Given the description of an element on the screen output the (x, y) to click on. 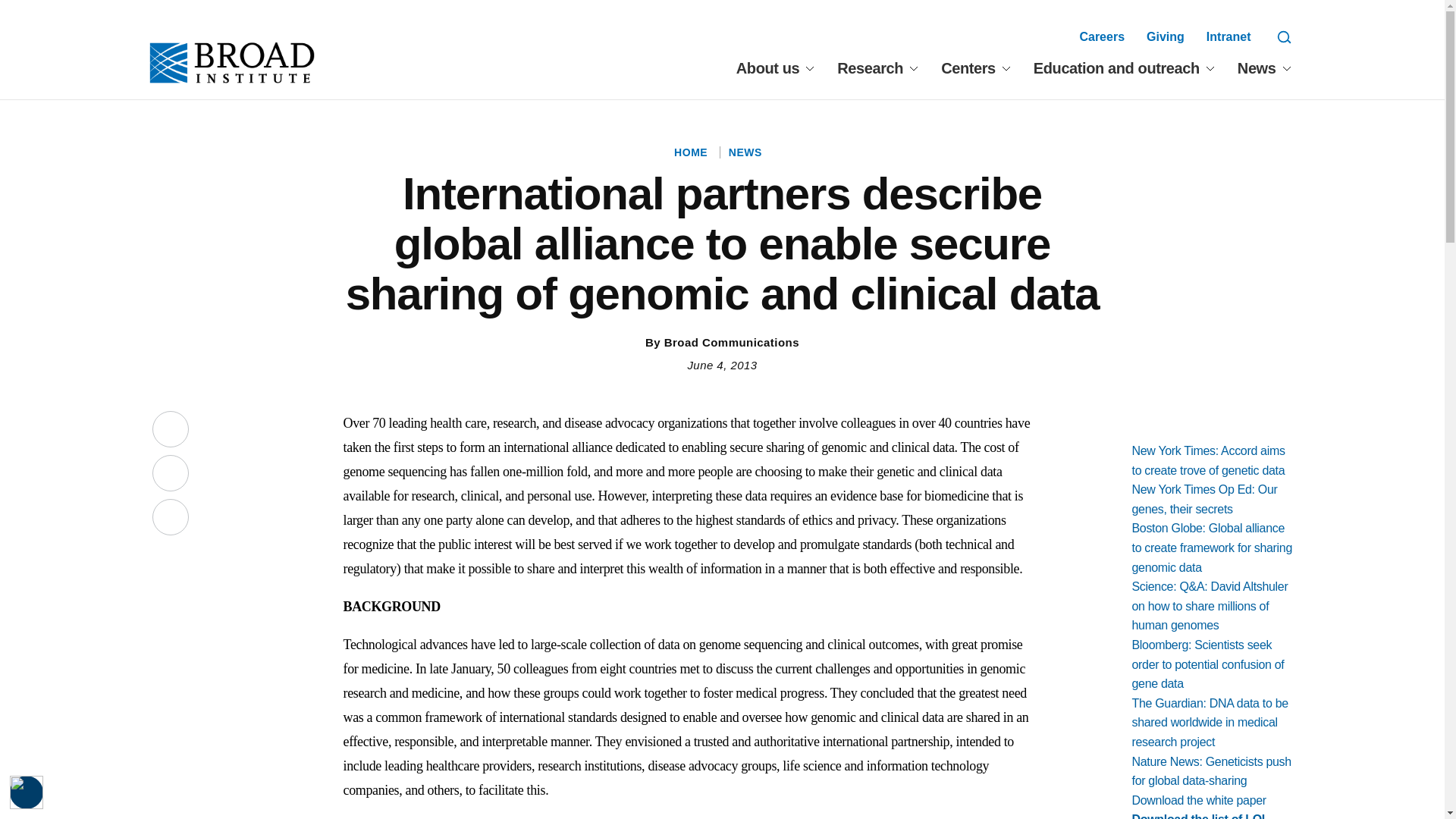
Accessibility Menu (26, 792)
Giving (1166, 36)
Broad Institute Intranet (1228, 36)
Intranet (1228, 36)
Careers (1101, 36)
